Given the description of an element on the screen output the (x, y) to click on. 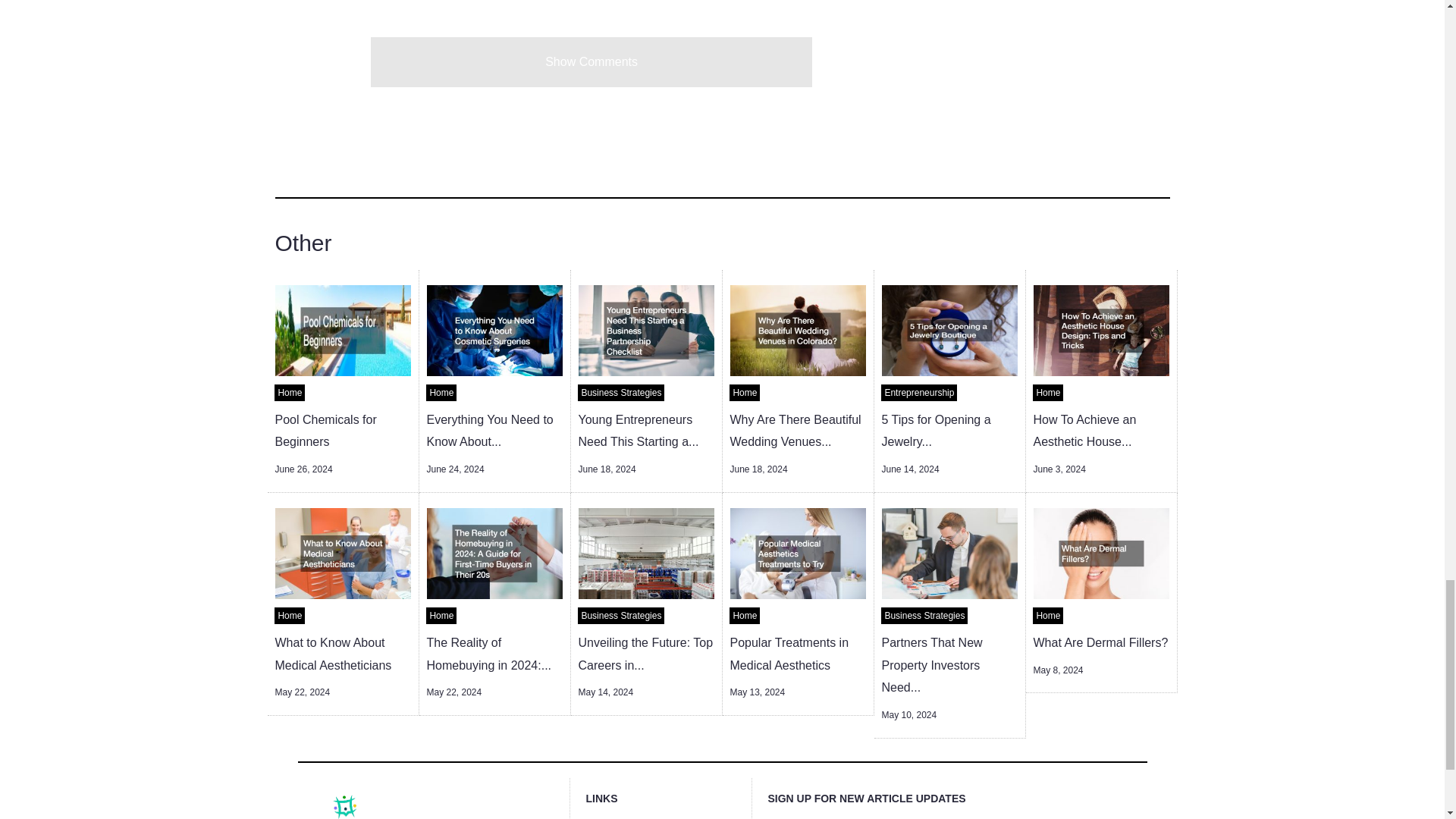
Home (441, 392)
June 26, 2024 (303, 469)
Pool Chemicals for Beginners (325, 430)
Home (289, 392)
